Given the description of an element on the screen output the (x, y) to click on. 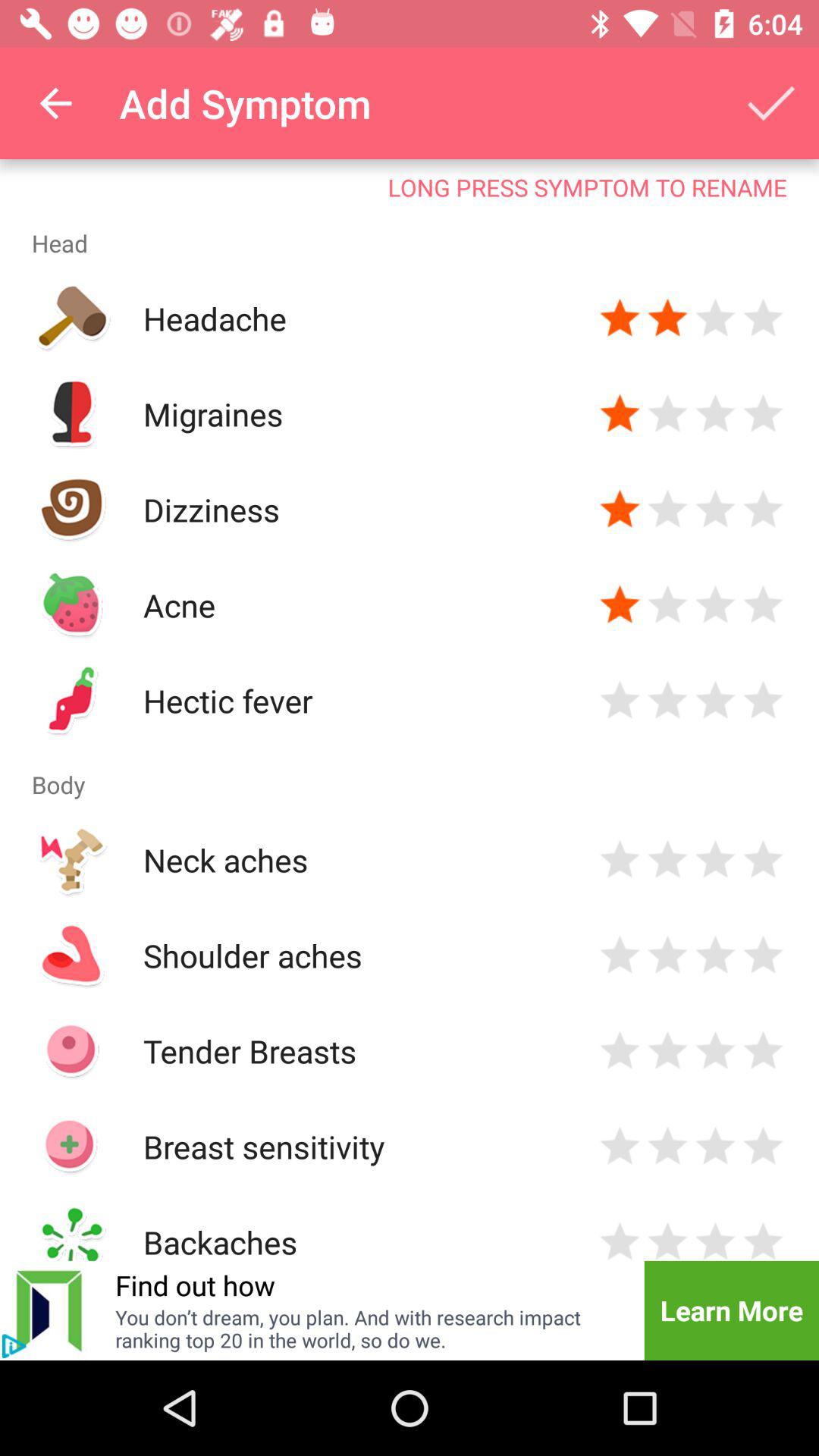
4 star (763, 413)
